Given the description of an element on the screen output the (x, y) to click on. 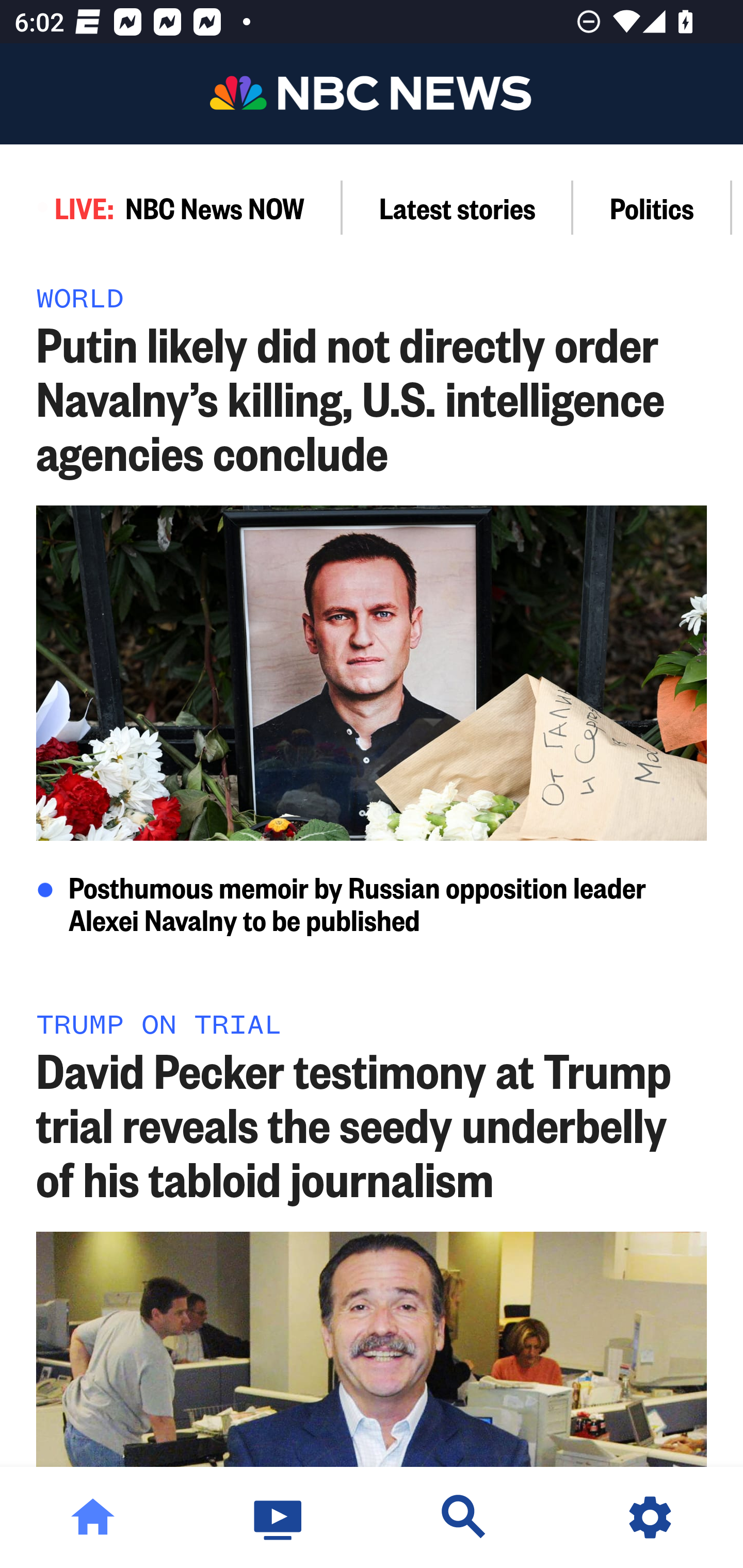
LIVE:  NBC News NOW (171, 207)
Latest stories Section,Latest stories (457, 207)
Politics Section,Politics (652, 207)
Watch (278, 1517)
Discover (464, 1517)
Settings (650, 1517)
